Given the description of an element on the screen output the (x, y) to click on. 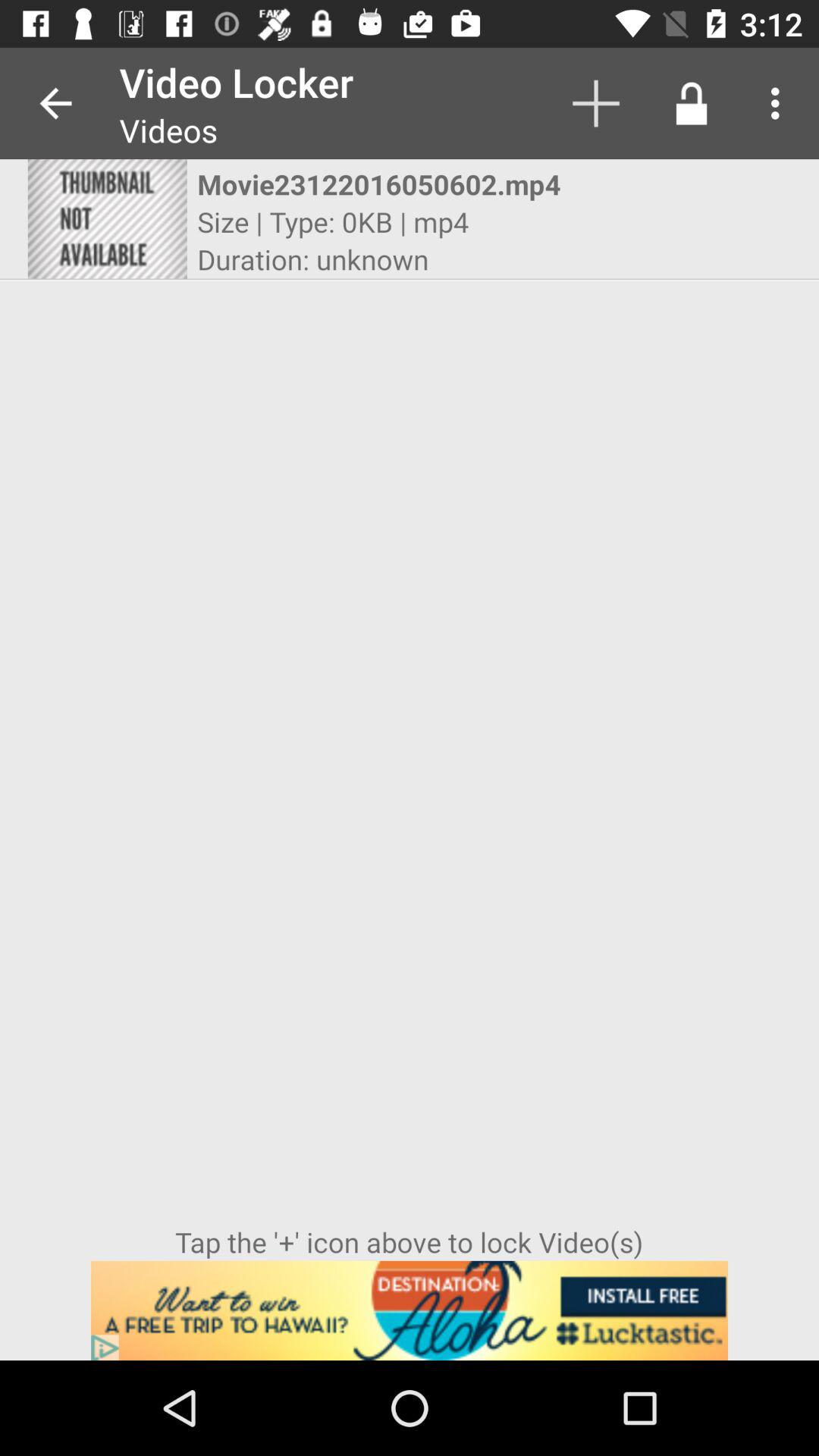
select the item below videos app (396, 184)
